Given the description of an element on the screen output the (x, y) to click on. 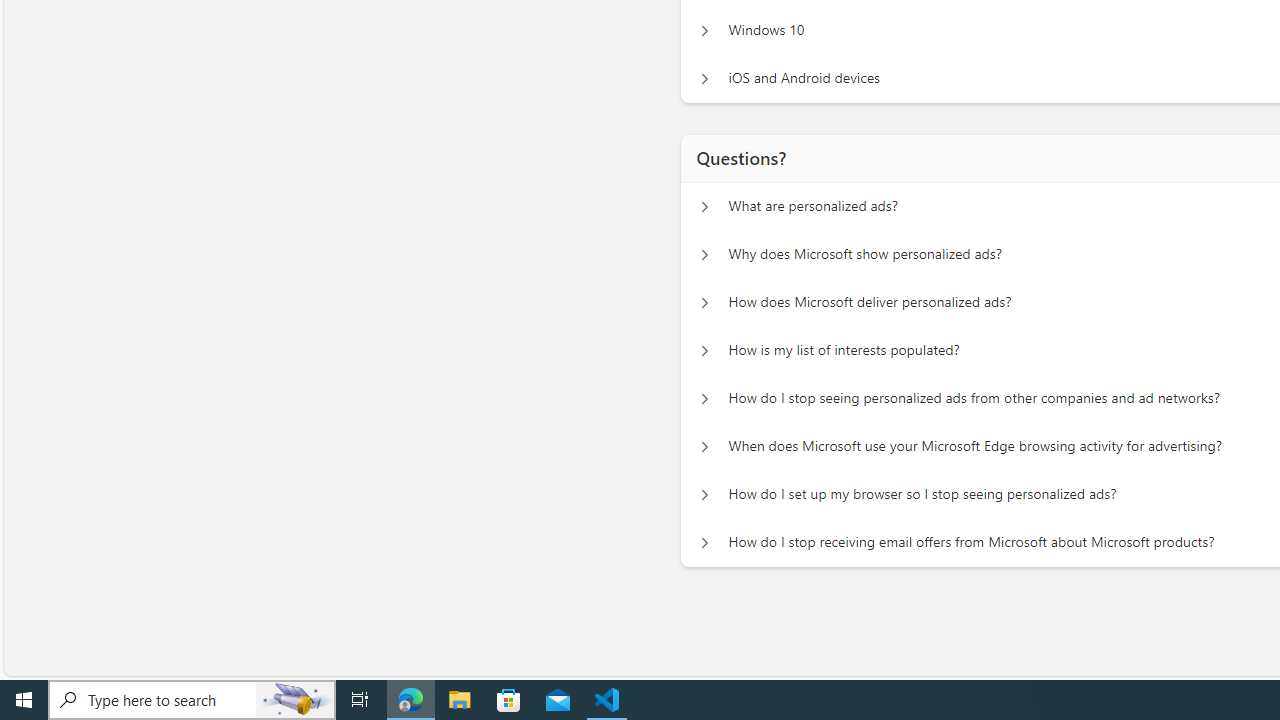
Questions? How is my list of interests populated? (704, 350)
Questions? How does Microsoft deliver personalized ads? (704, 302)
Questions? What are personalized ads? (704, 206)
Manage personalized ads on your device Windows 10 (704, 30)
Questions? Why does Microsoft show personalized ads? (704, 255)
